Given the description of an element on the screen output the (x, y) to click on. 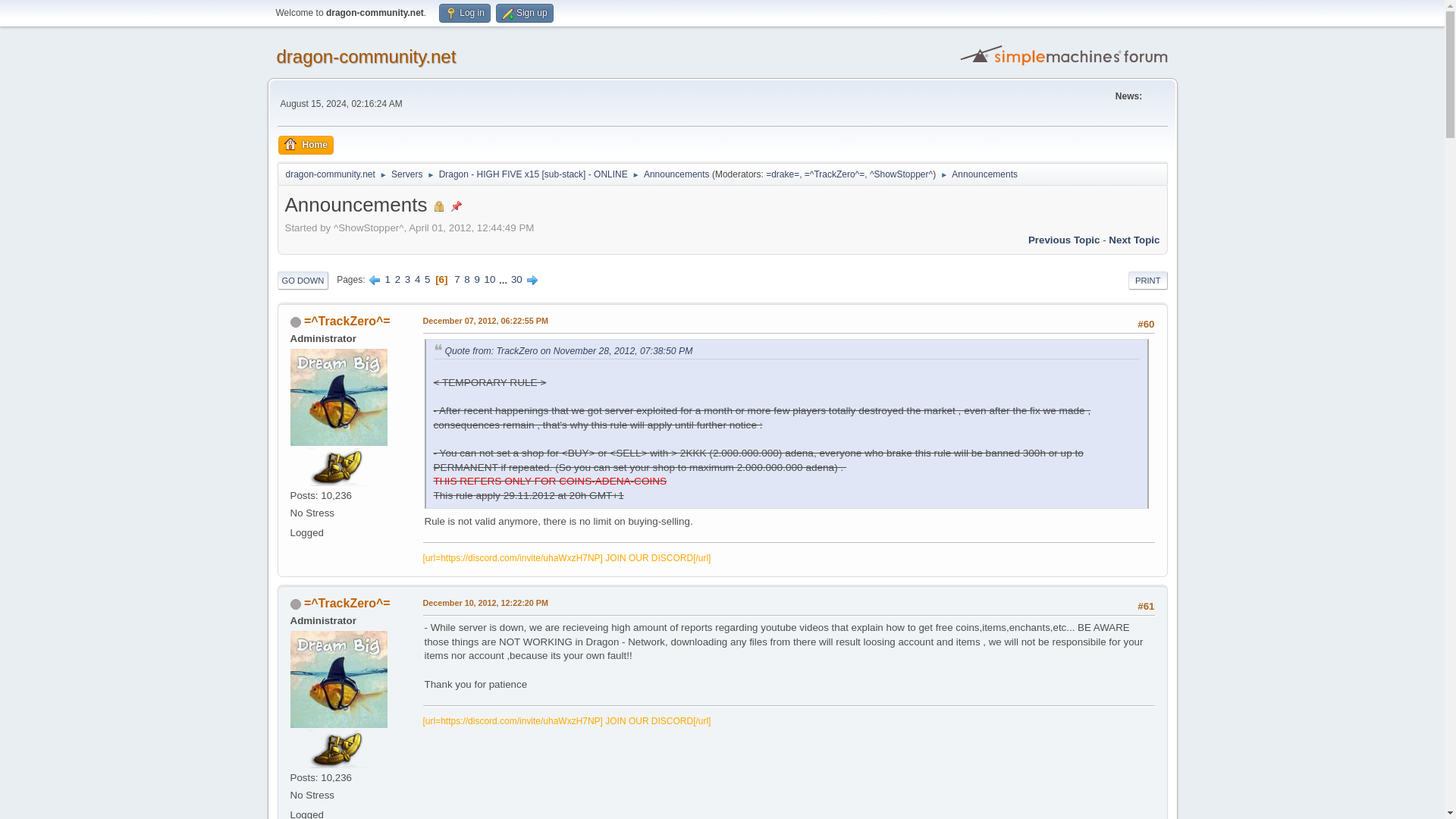
Next Topic (1133, 239)
Board Moderator (782, 174)
Announcements (676, 171)
10 (489, 279)
30 (516, 279)
Offline (294, 603)
Servers (406, 171)
Log in (464, 13)
PRINT (1147, 280)
Previous Topic (1063, 239)
